Given the description of an element on the screen output the (x, y) to click on. 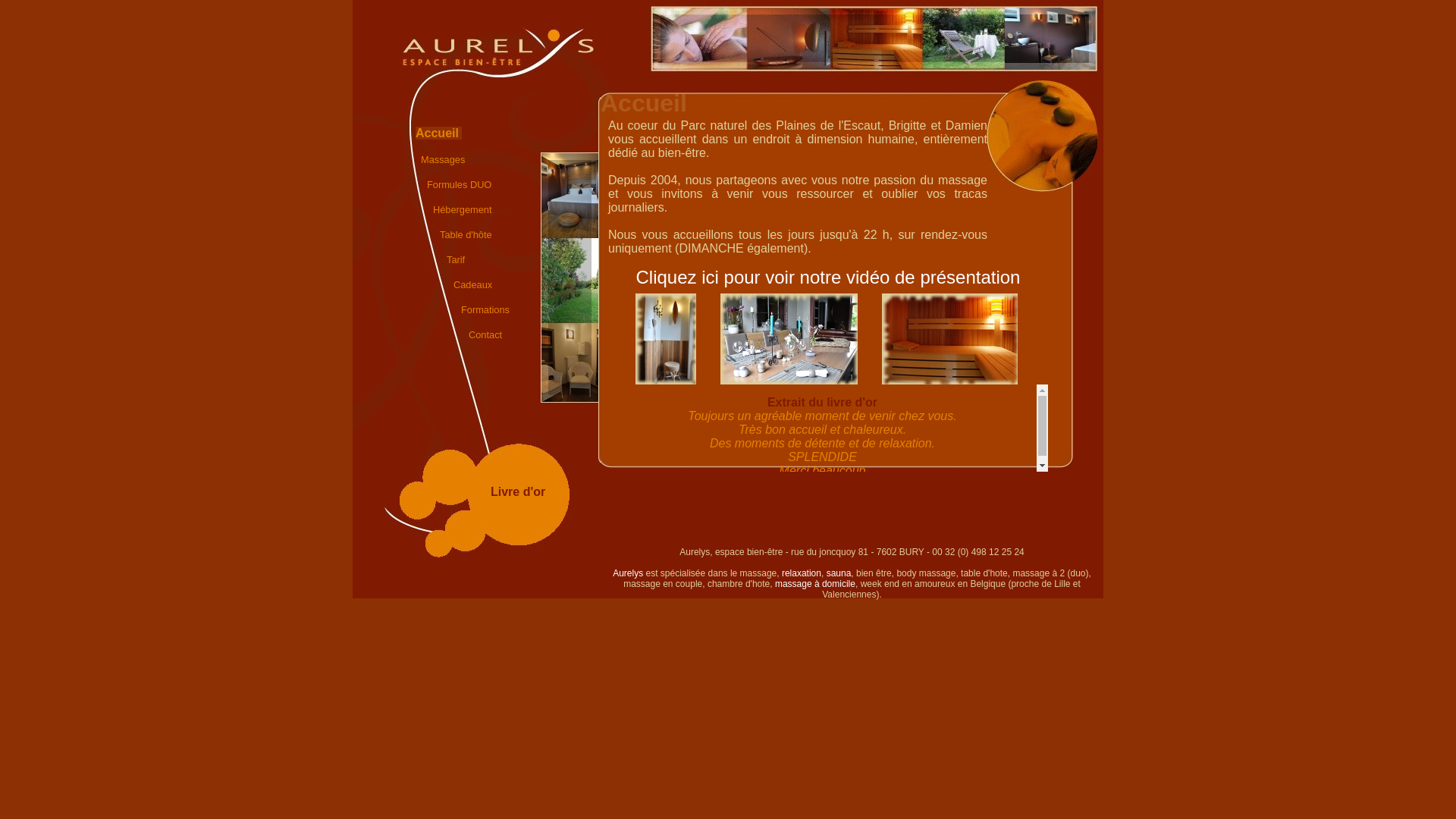
Tarif Element type: text (455, 259)
Formules DUO Element type: text (458, 184)
Livre d'or Element type: text (517, 491)
Contact Element type: text (485, 334)
Aurelys Element type: text (627, 572)
sauna Element type: text (838, 572)
Massages Element type: text (442, 159)
relaxation Element type: text (801, 572)
Cadeaux Element type: text (472, 284)
Formations Element type: text (485, 309)
Extrait du livre d'or Element type: text (822, 401)
